Given the description of an element on the screen output the (x, y) to click on. 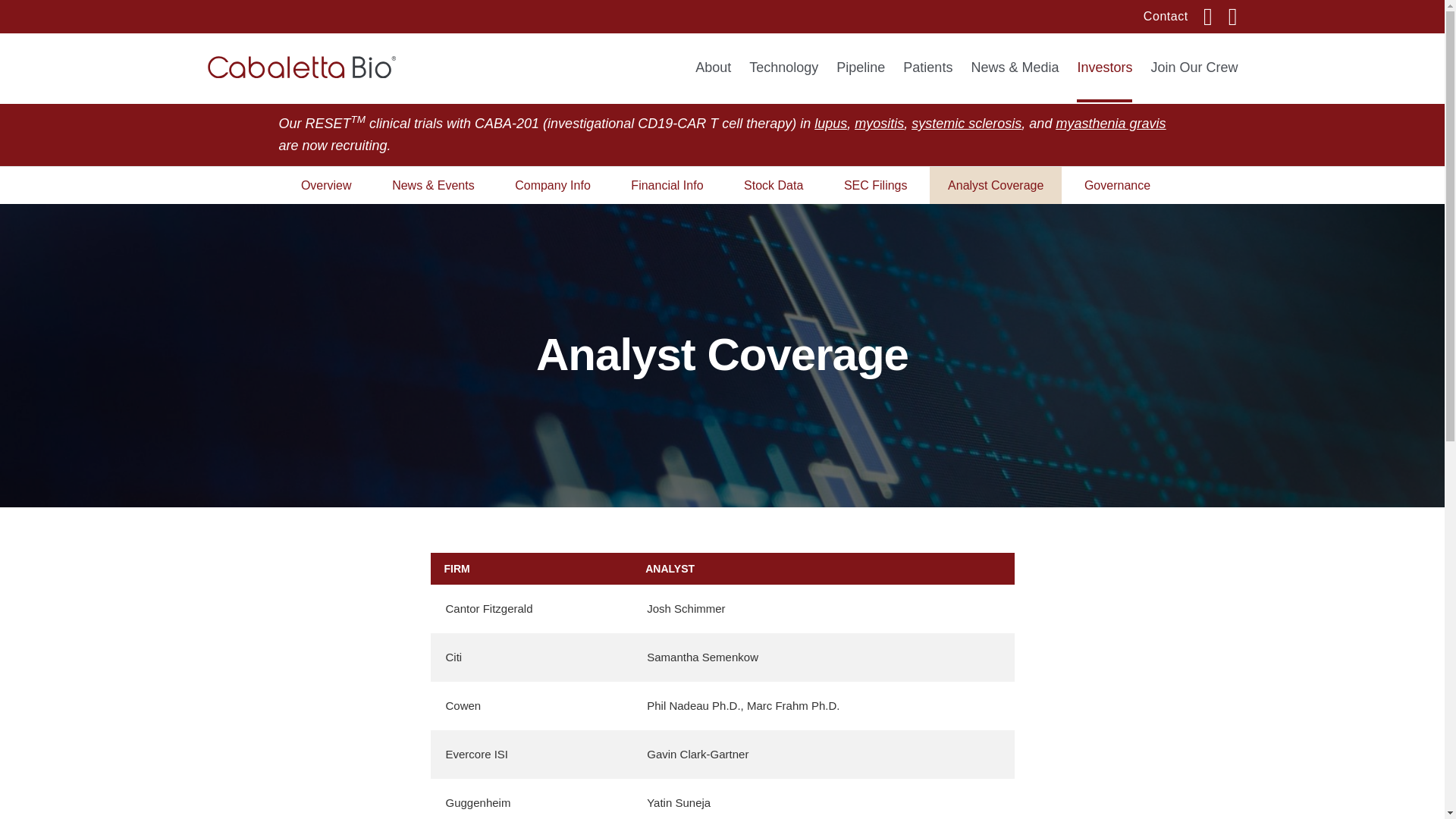
Pipeline (860, 79)
Technology (783, 79)
Contact (1173, 16)
Patients (926, 79)
LinkedIn (1216, 16)
Investors (1104, 79)
About (712, 79)
